Given the description of an element on the screen output the (x, y) to click on. 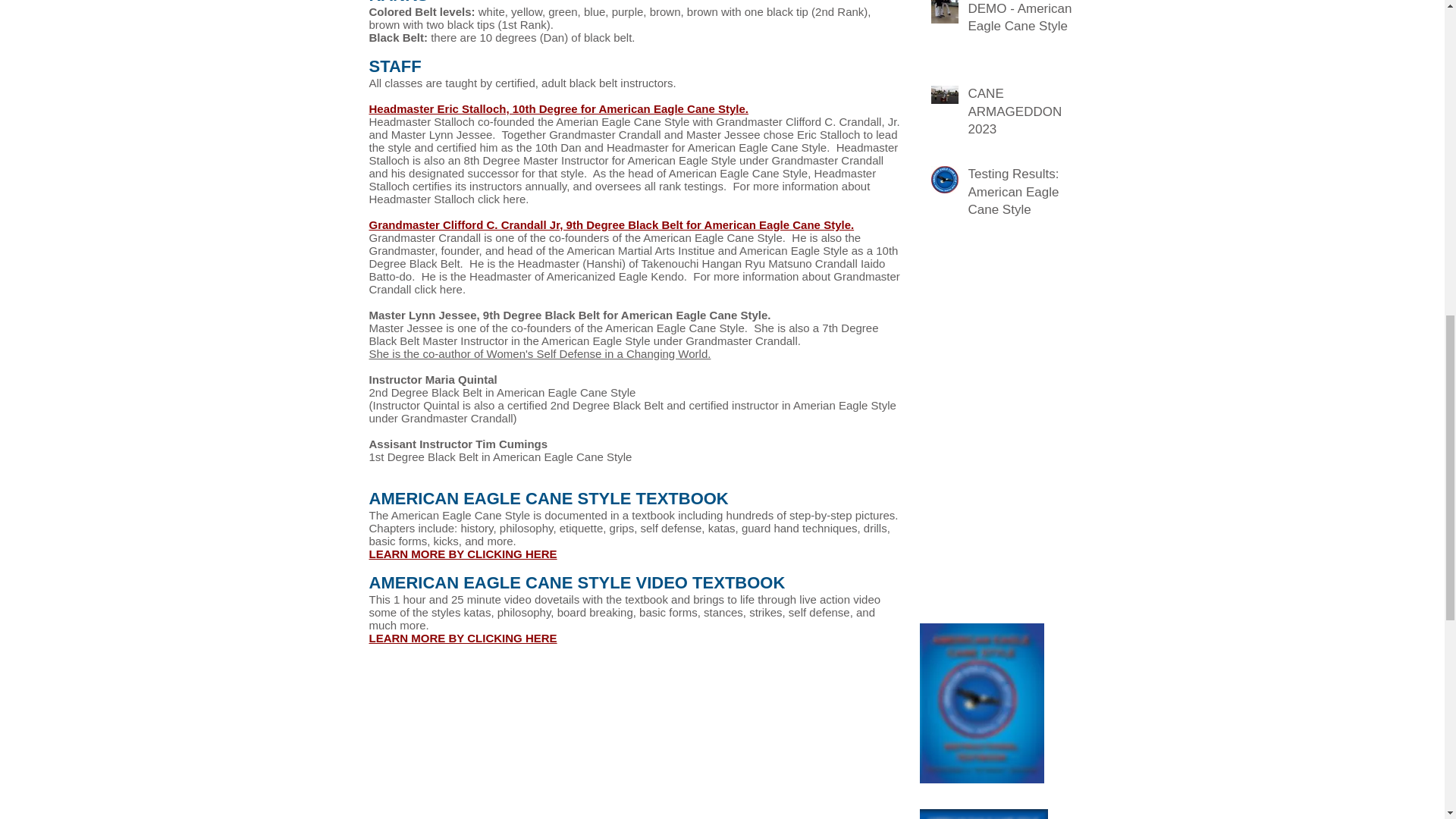
Front Cover - AECS DVD 2023.png (982, 814)
